Given the description of an element on the screen output the (x, y) to click on. 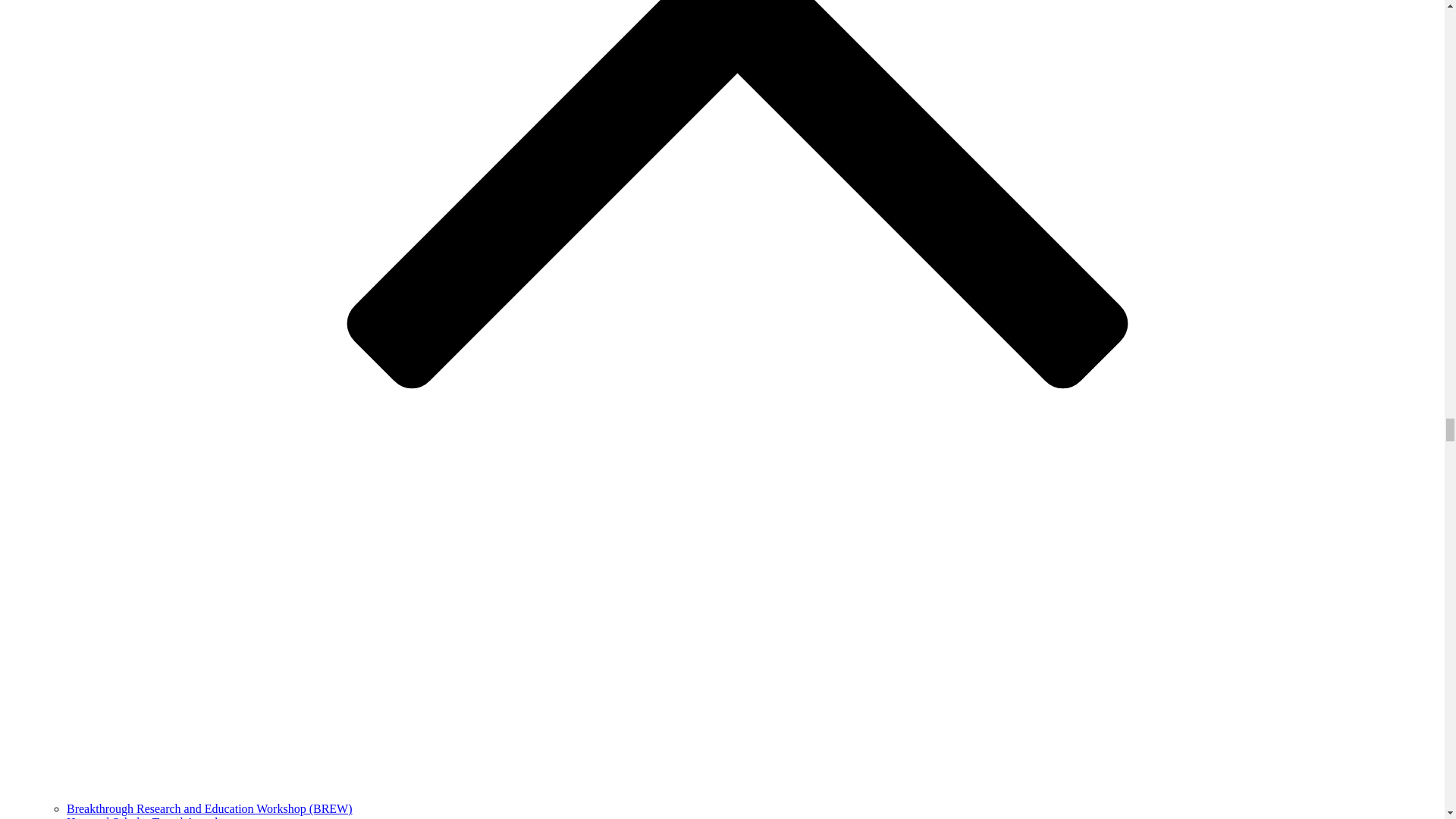
Honored Scholar Travel Award (141, 817)
